Given the description of an element on the screen output the (x, y) to click on. 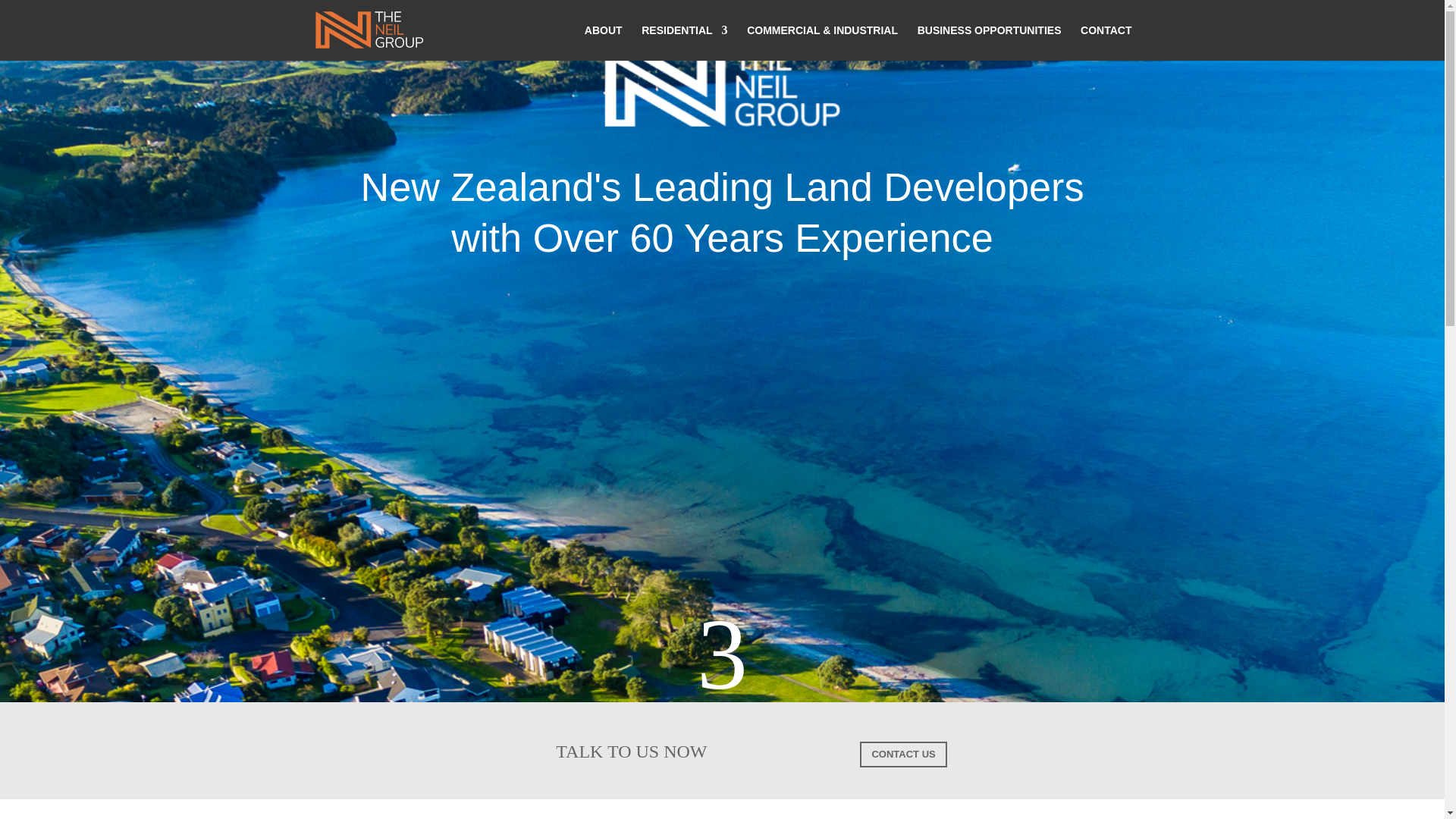
CONTACT US (903, 754)
CONTACT (1105, 42)
ABOUT (604, 42)
BUSINESS OPPORTUNITIES (989, 42)
3 (599, 642)
RESIDENTIAL (684, 42)
